Given the description of an element on the screen output the (x, y) to click on. 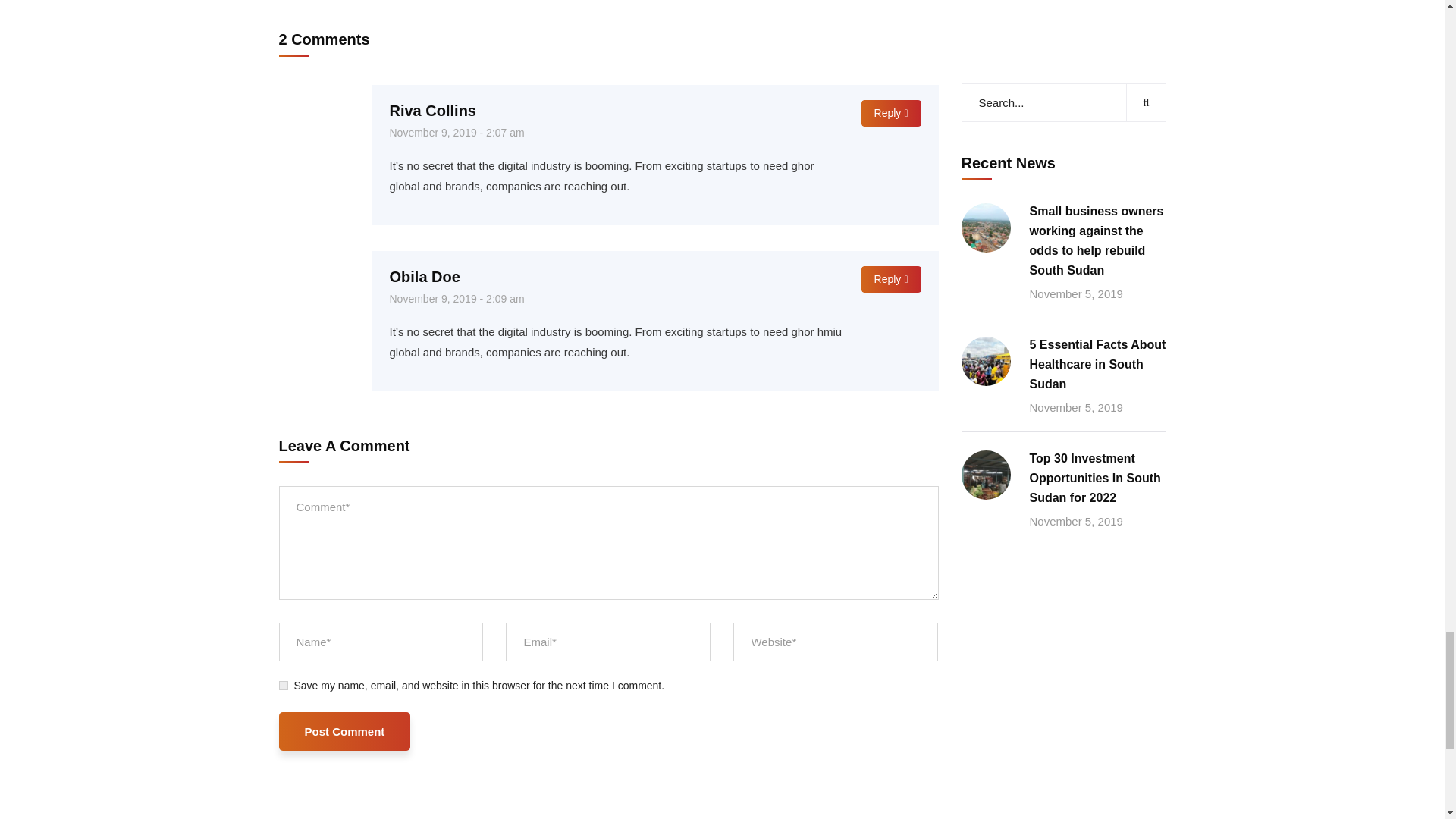
Post Comment (344, 731)
